Given the description of an element on the screen output the (x, y) to click on. 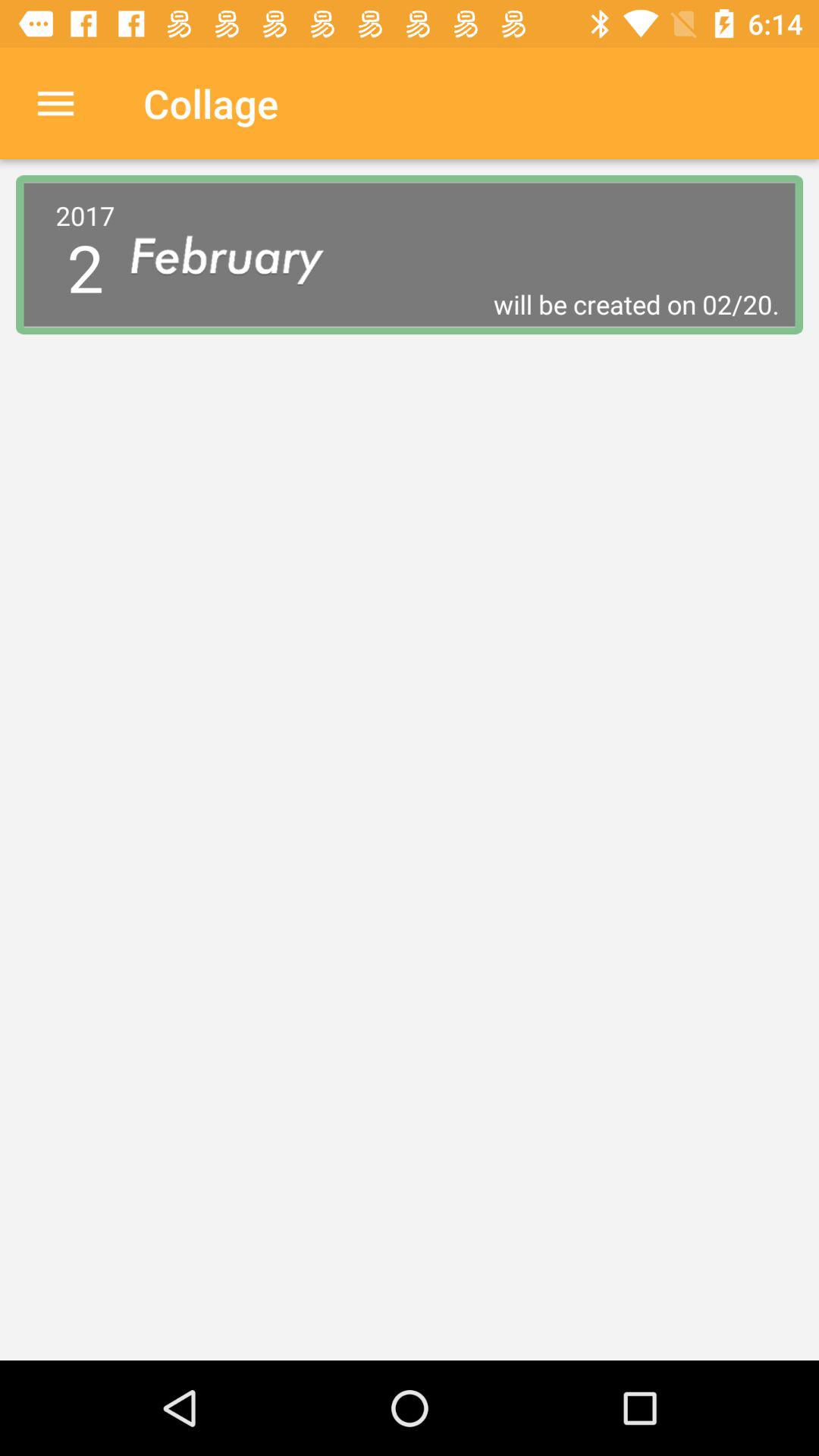
select icon to the left of collage icon (55, 103)
